Given the description of an element on the screen output the (x, y) to click on. 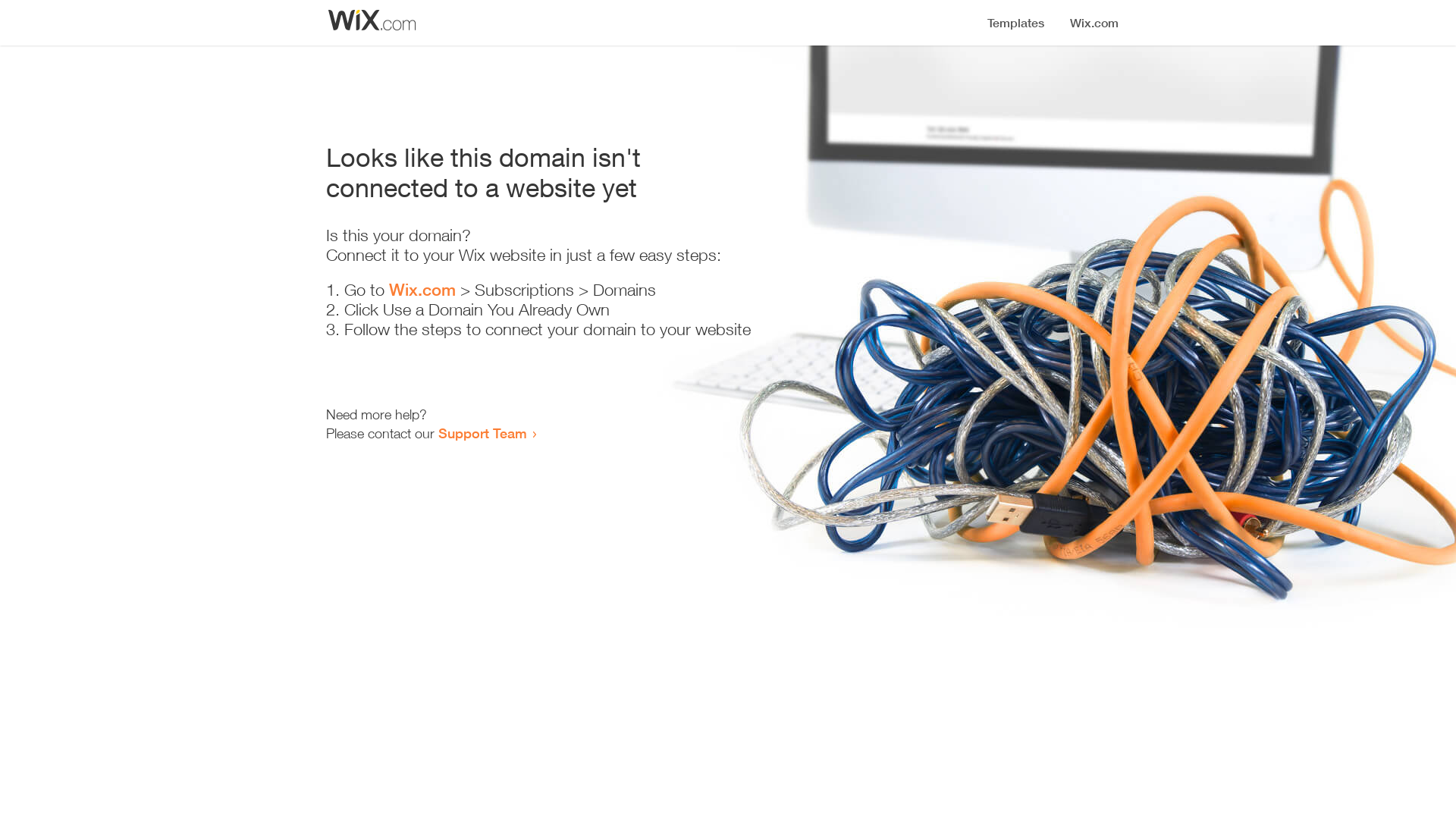
Support Team Element type: text (482, 432)
Wix.com Element type: text (422, 289)
